Given the description of an element on the screen output the (x, y) to click on. 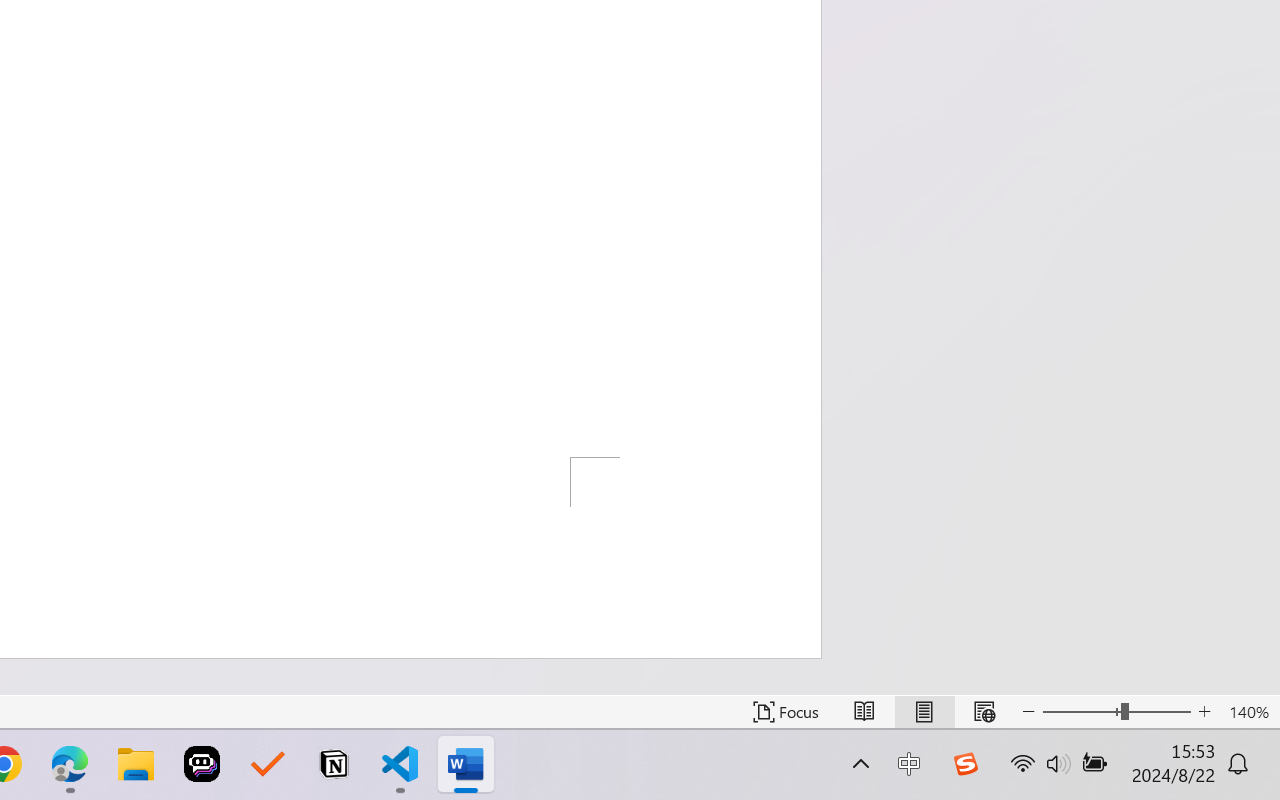
Zoom (1116, 712)
Zoom Out (1081, 712)
Read Mode (864, 712)
Print Layout (924, 712)
Focus  (786, 712)
Zoom In (1204, 712)
Poe (201, 764)
Class: Image (965, 764)
